Given the description of an element on the screen output the (x, y) to click on. 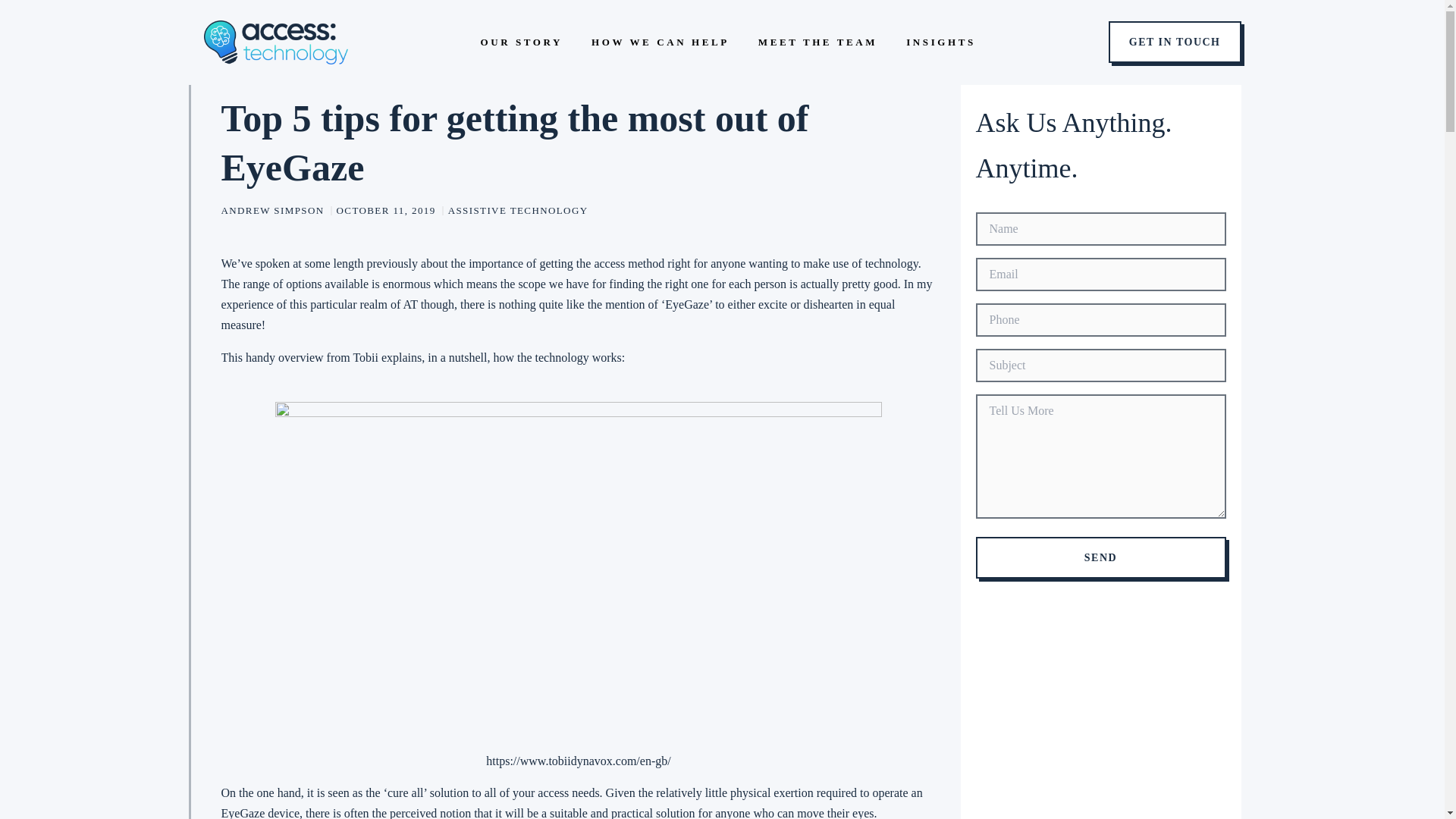
HOW WE CAN HELP (660, 41)
assistive technology (518, 210)
GET IN TOUCH (1174, 42)
OUR STORY (521, 41)
MEET THE TEAM (817, 41)
Andrew Simpson (272, 210)
ASSISTIVE TECHNOLOGY (518, 210)
SEND (1100, 557)
ANDREW SIMPSON (272, 210)
INSIGHTS (940, 41)
